Given the description of an element on the screen output the (x, y) to click on. 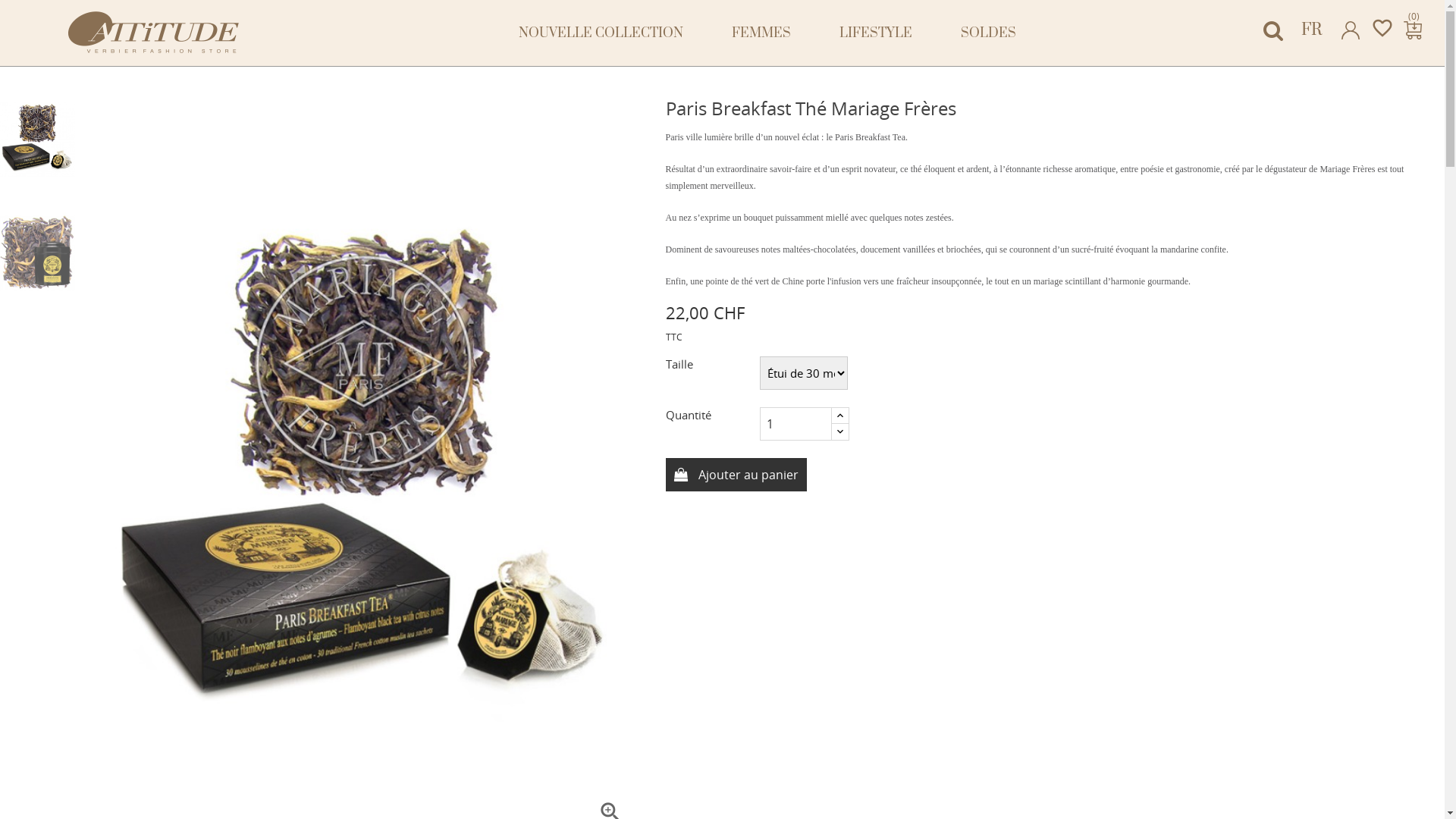
LIFESTYLE Element type: text (875, 32)
SOLDES Element type: text (988, 32)
FEMMES Element type: text (761, 32)
Ajouter au panier Element type: text (735, 474)
FR Element type: text (1311, 27)
favorite_border Element type: text (1382, 26)
NOUVELLE COLLECTION Element type: text (600, 32)
